Given the description of an element on the screen output the (x, y) to click on. 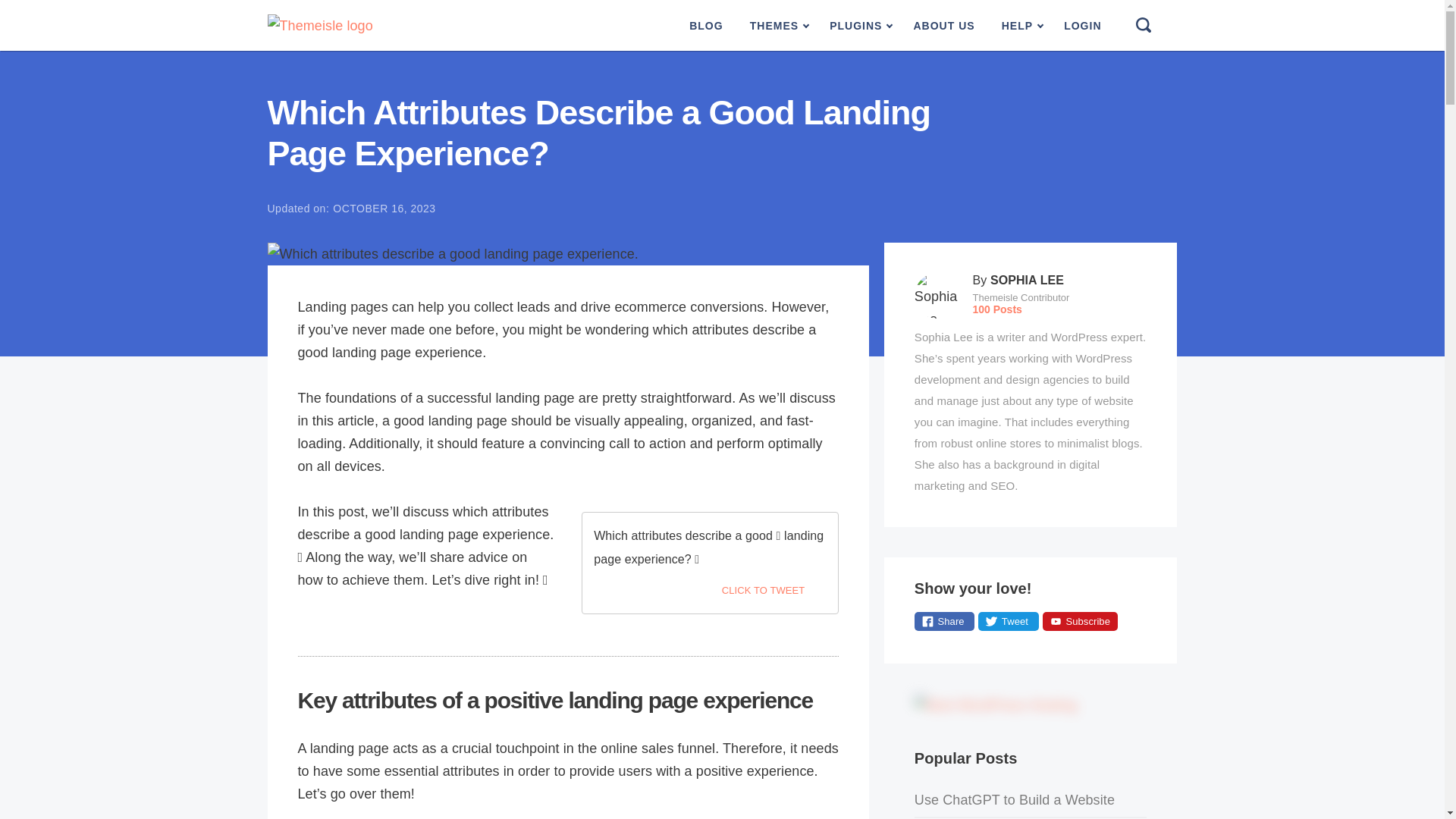
LOGIN (1082, 25)
CLICK TO TWEET (774, 590)
PLUGINS (857, 25)
ABOUT US (943, 25)
HELP (1018, 25)
BLOG (705, 25)
THEMES (776, 25)
